Given the description of an element on the screen output the (x, y) to click on. 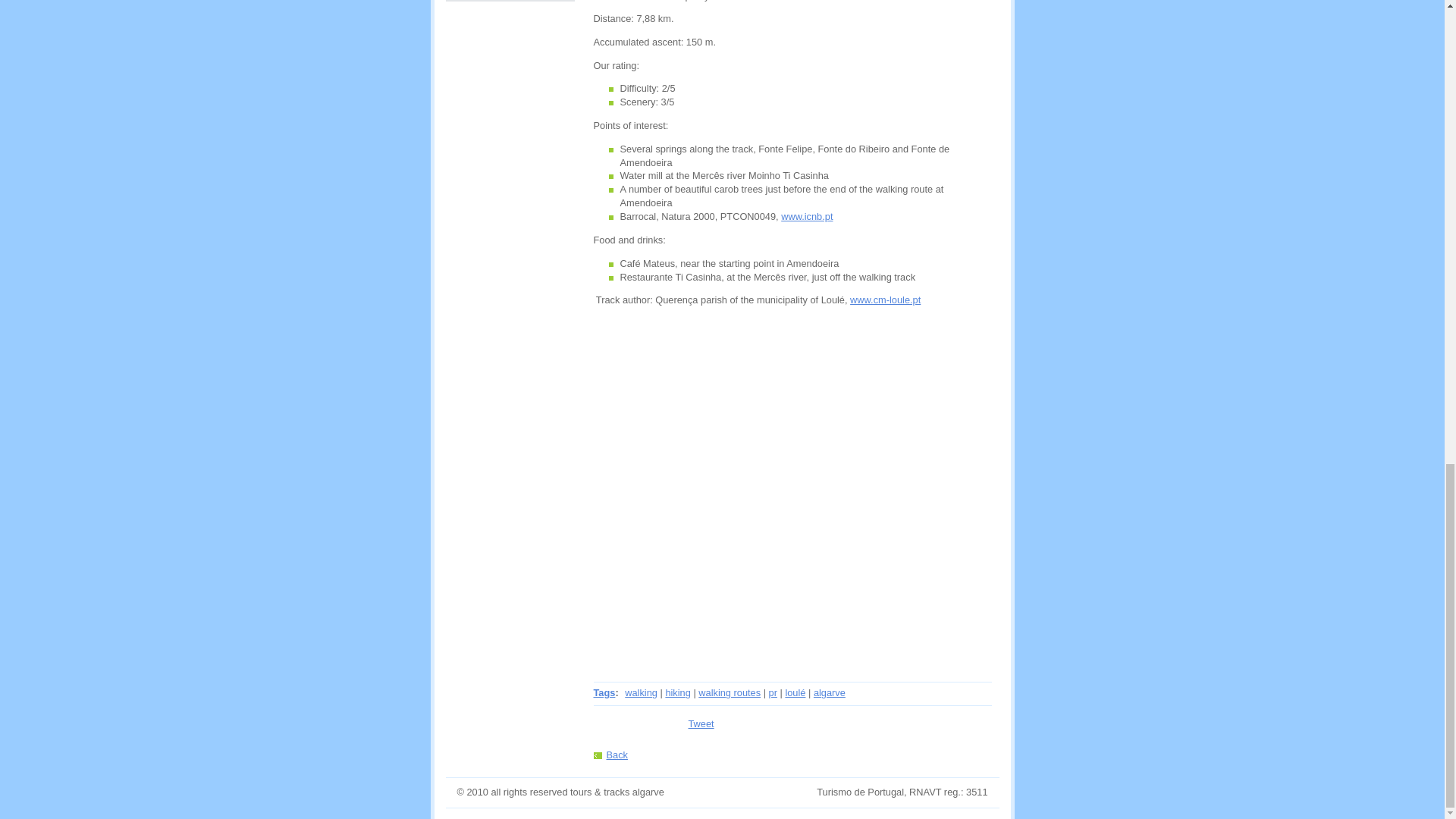
Back (609, 754)
Tags (603, 692)
algarve (829, 692)
hiking (677, 692)
pr (772, 692)
Tweet (701, 723)
www.icnb.pt (806, 215)
www.cm-loule.pt (885, 299)
walking (641, 692)
walking routes (729, 692)
